Given the description of an element on the screen output the (x, y) to click on. 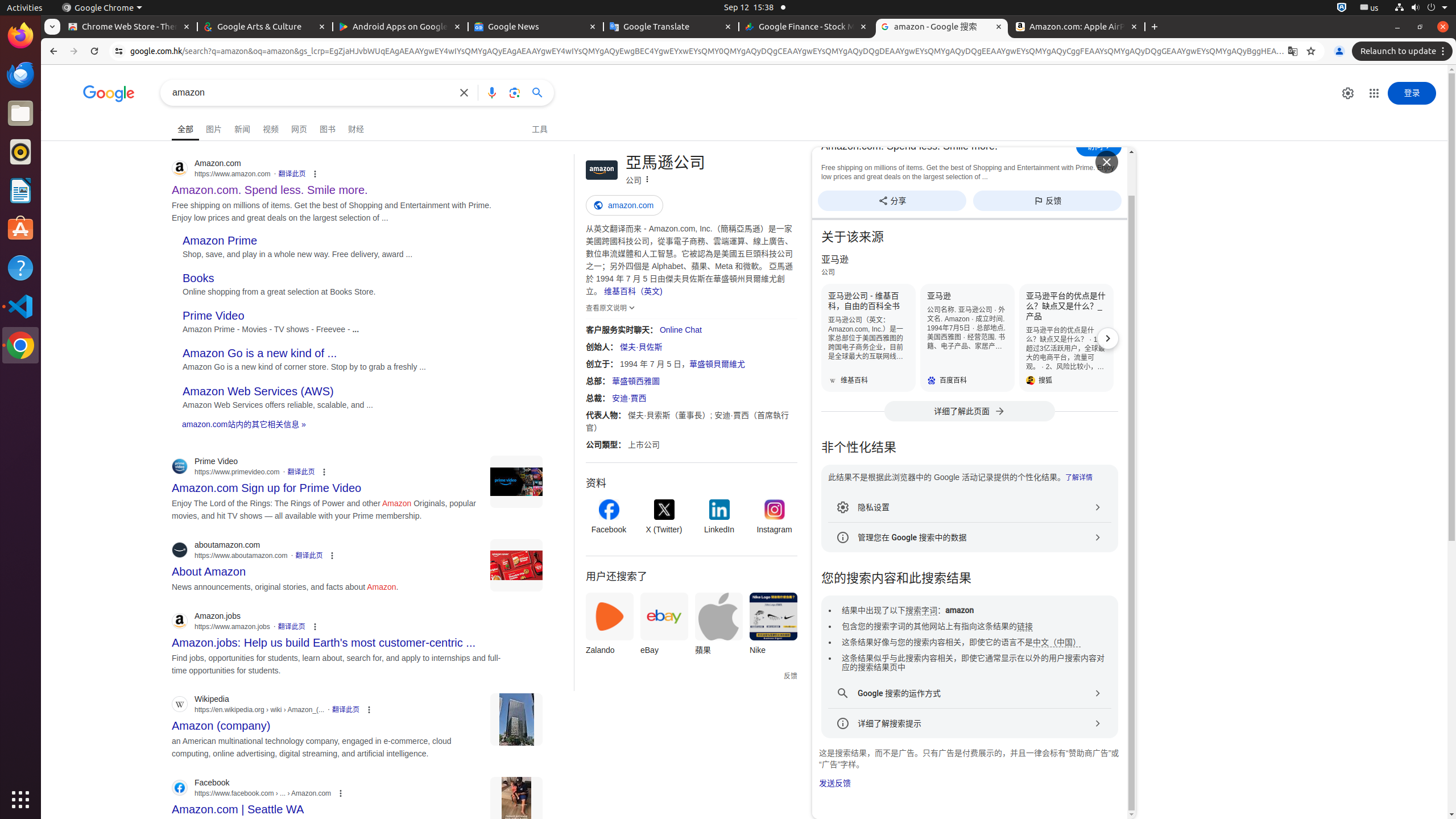
网页 Element type: link (298, 127)
 About Amazon aboutamazon.com https://www.aboutamazon.com Element type: link (208, 567)
搜索 Element type: push-button (540, 92)
Amazon Web Services (AWS) Element type: link (257, 390)
amazon.com Element type: link (691, 208)
